Given the description of an element on the screen output the (x, y) to click on. 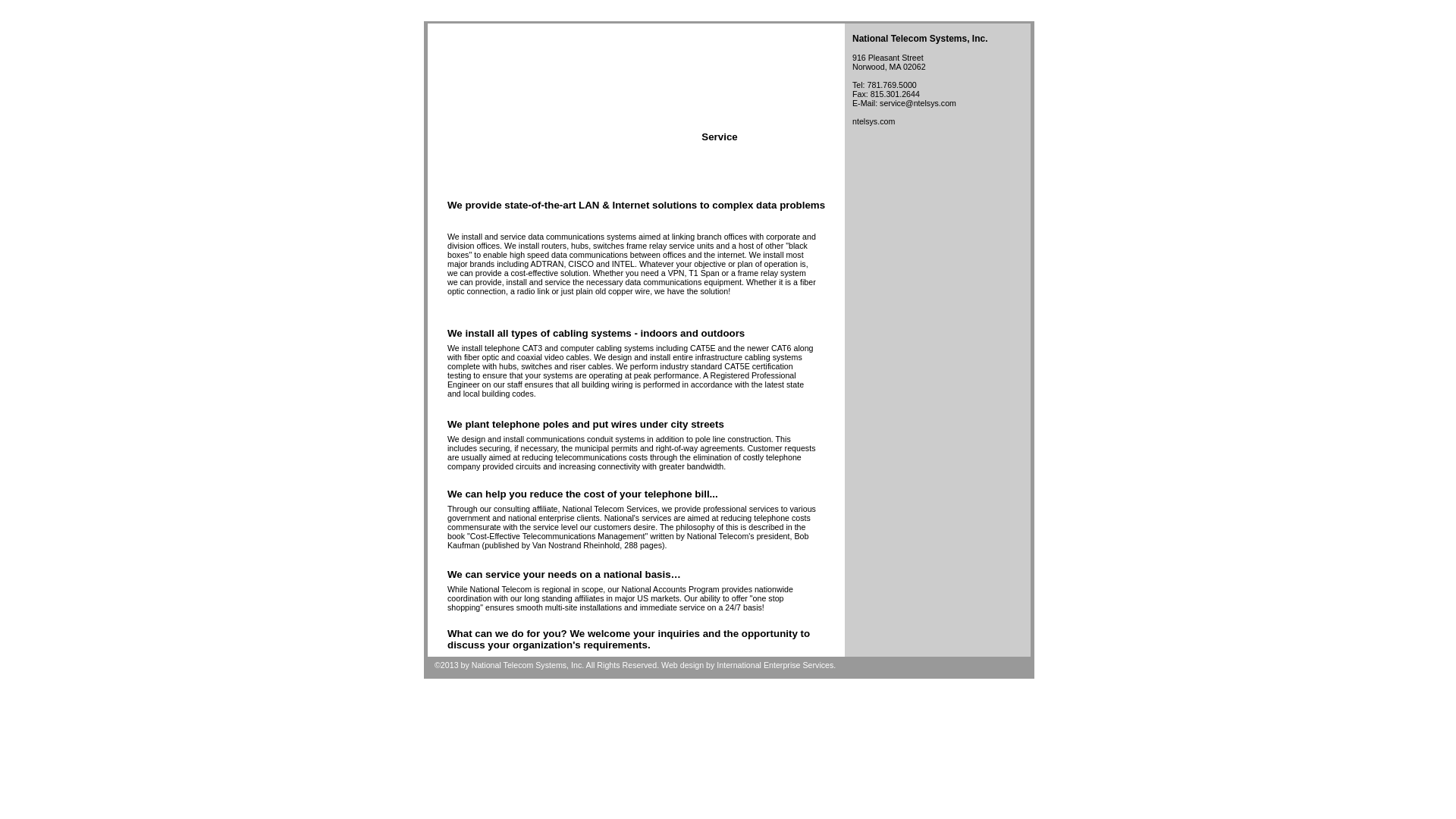
Installation (637, 136)
International Enterprise Services (774, 664)
Equipment (803, 136)
Telecommunications Management (540, 137)
Home (454, 138)
